Given the description of an element on the screen output the (x, y) to click on. 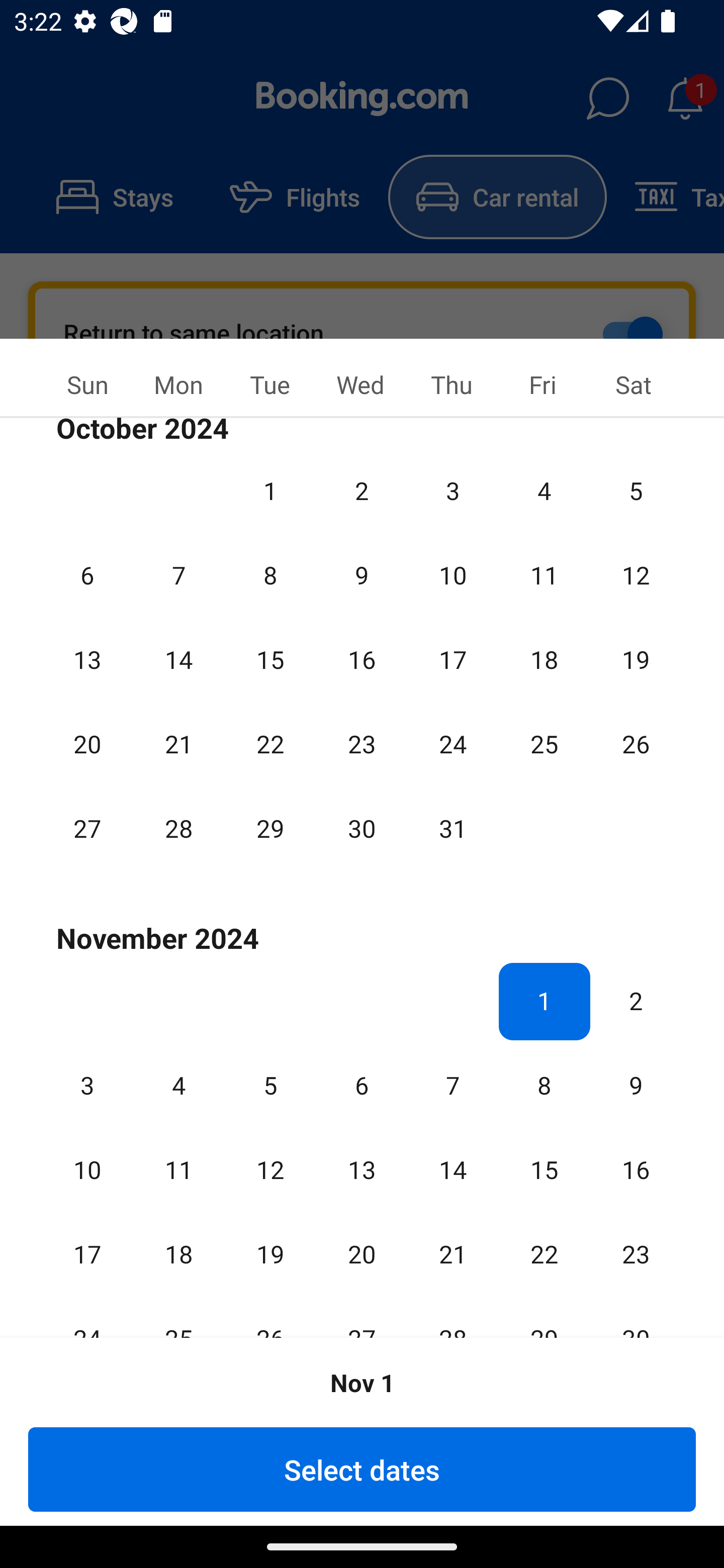
Select dates (361, 1468)
